Given the description of an element on the screen output the (x, y) to click on. 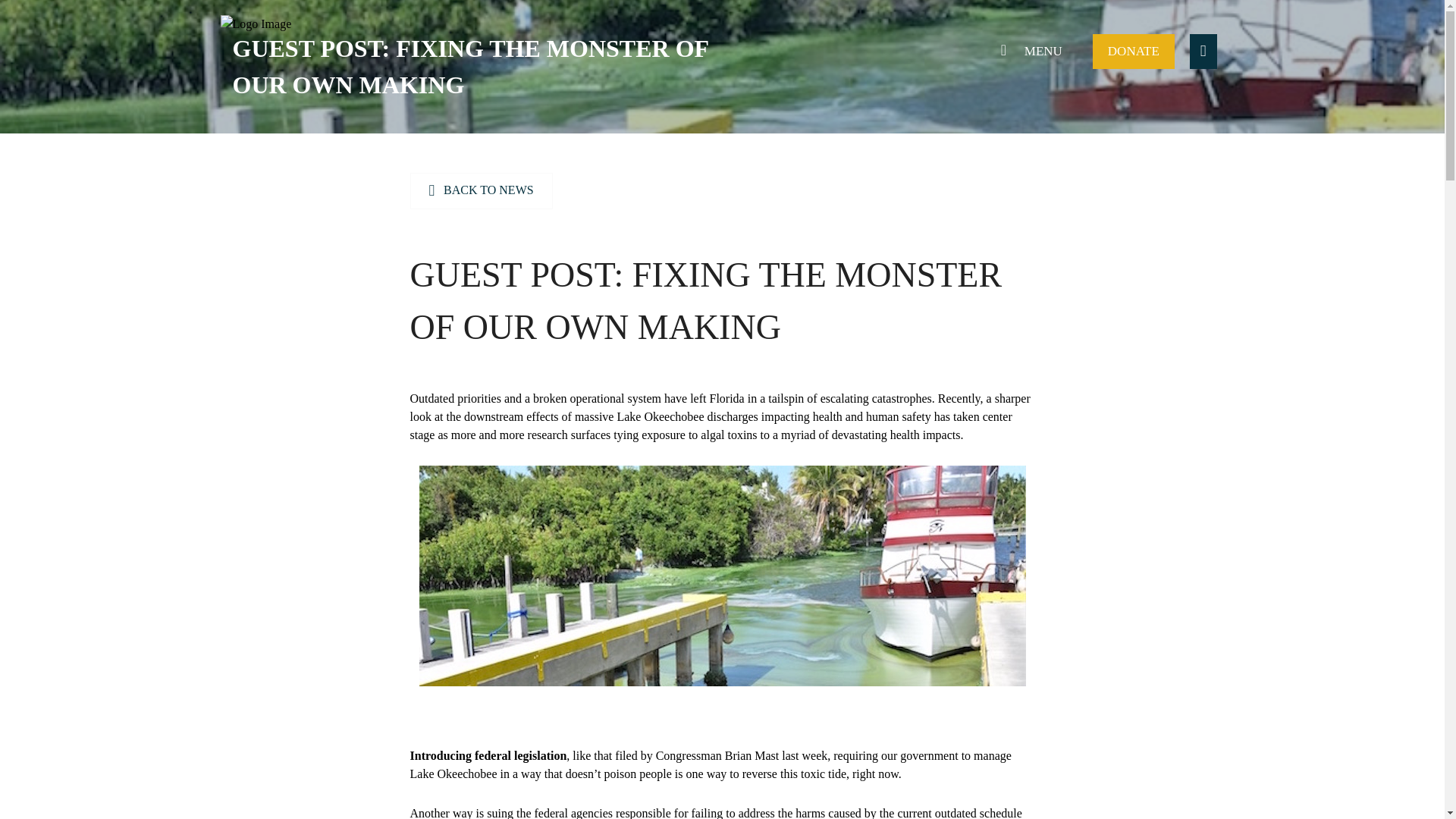
This law would protect us from toxic blooms (487, 755)
Donate (1133, 51)
Subscribe to our newsletter (1203, 51)
BACK TO NEWS (480, 190)
Central Marine, 2016. Photo Contributed by Mary Radabaugh (722, 576)
Introducing federal legislation (487, 755)
VoteWater.org (255, 50)
DONATE (1133, 51)
MENU (1027, 51)
